Given the description of an element on the screen output the (x, y) to click on. 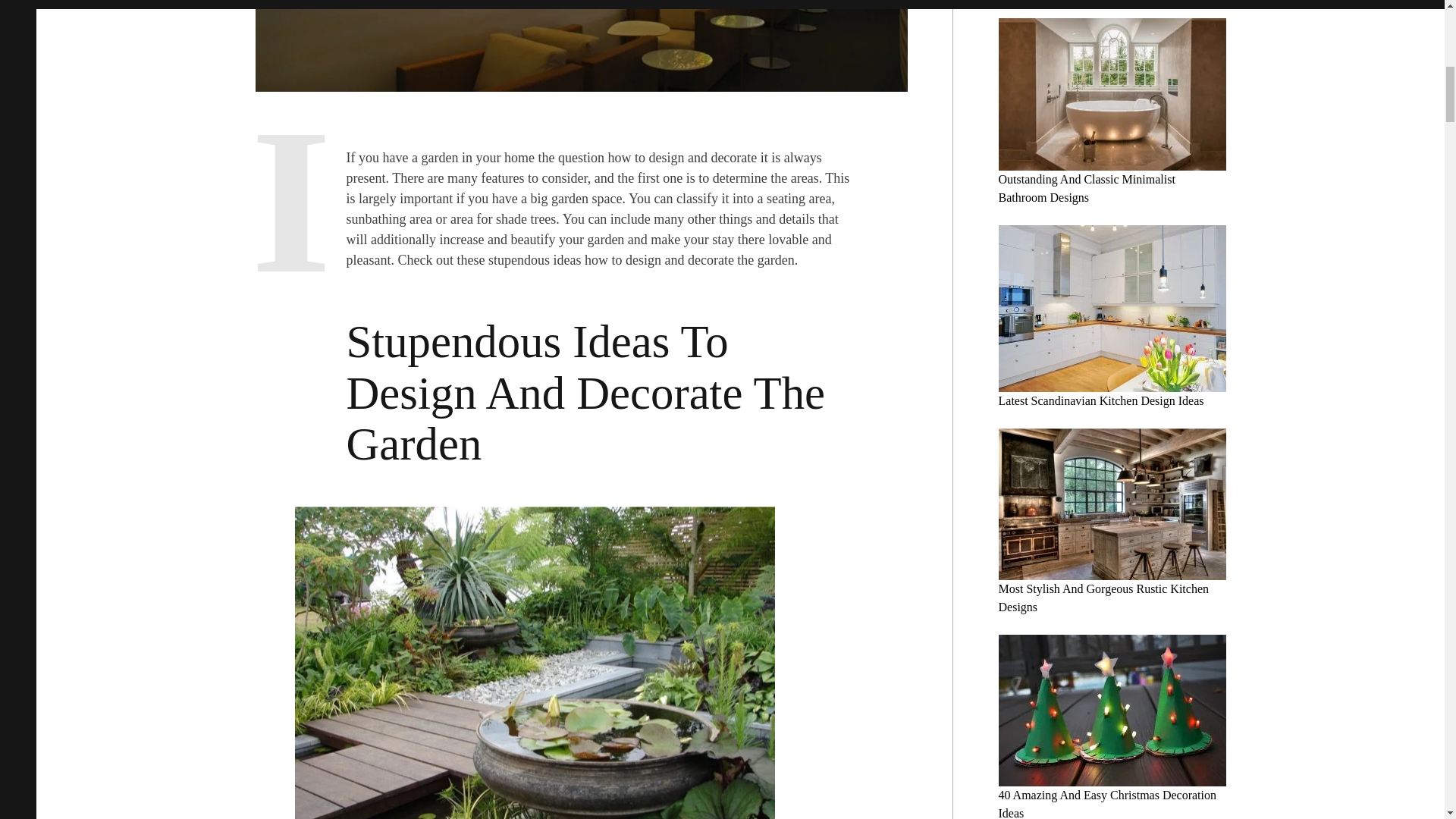
Latest Scandinavian Kitchen Design Ideas (1100, 400)
Outstanding And Classic Minimalist Bathroom Designs (1085, 187)
Most Stylish And Gorgeous Rustic Kitchen Designs (1102, 597)
40 Amazing And Easy Christmas Decoration Ideas (1106, 803)
